Given the description of an element on the screen output the (x, y) to click on. 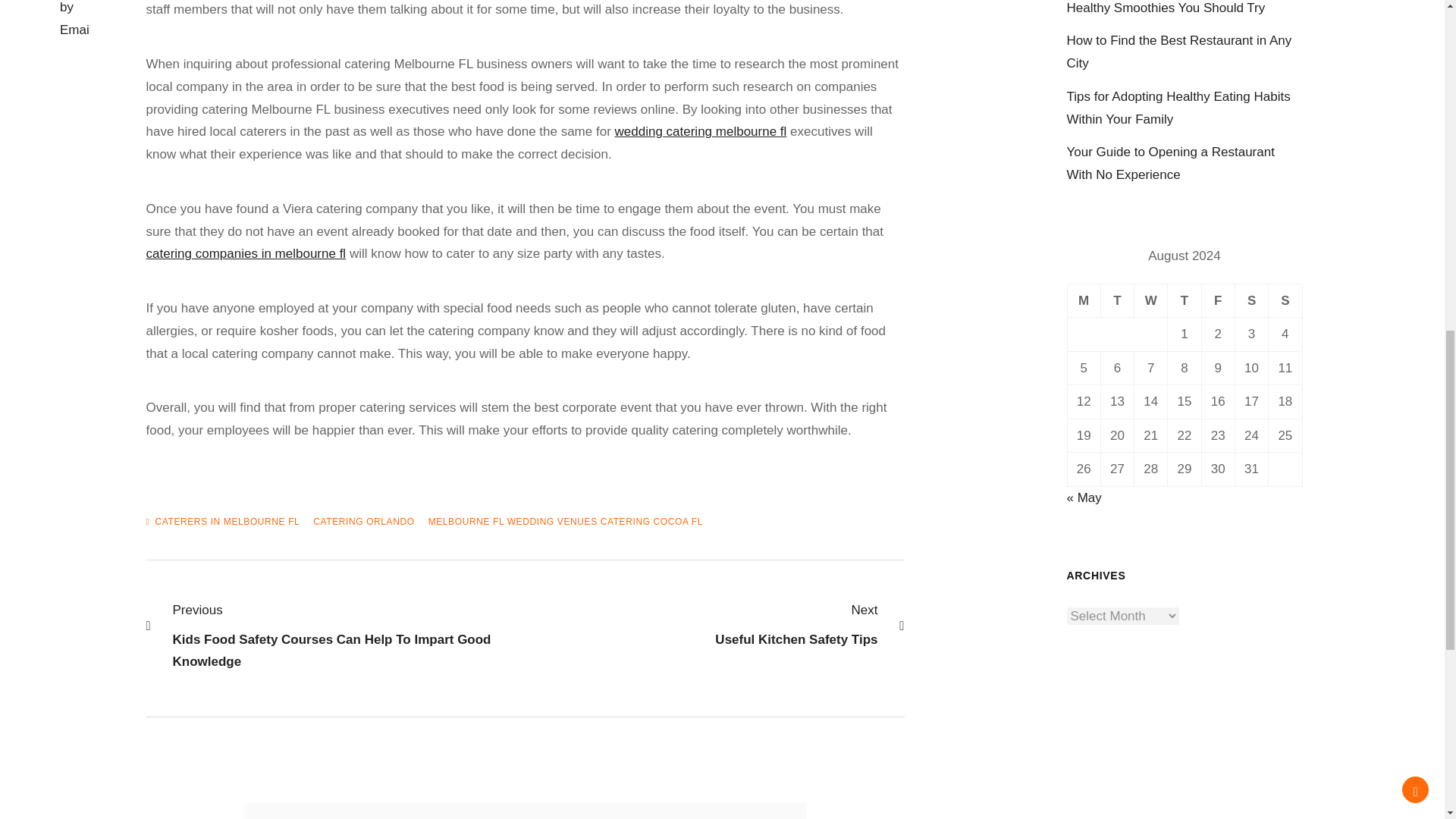
Caterers in tampa florida (245, 253)
Your Guide to Opening a Restaurant With No Experience (1169, 162)
wedding catering melbourne fl (700, 131)
Wednesday (1150, 300)
Tuesday (1117, 300)
Healthy Smoothies You Should Try (1165, 7)
Tips for Adopting Healthy Eating Habits Within Your Family (1177, 107)
CATERERS IN MELBOURNE FL (226, 521)
Friday (1217, 300)
Sunday (1284, 300)
Thursday (1184, 300)
Saturday (706, 625)
Monday (1251, 300)
MELBOURNE FL WEDDING VENUES CATERING COCOA FL (1083, 300)
